Given the description of an element on the screen output the (x, y) to click on. 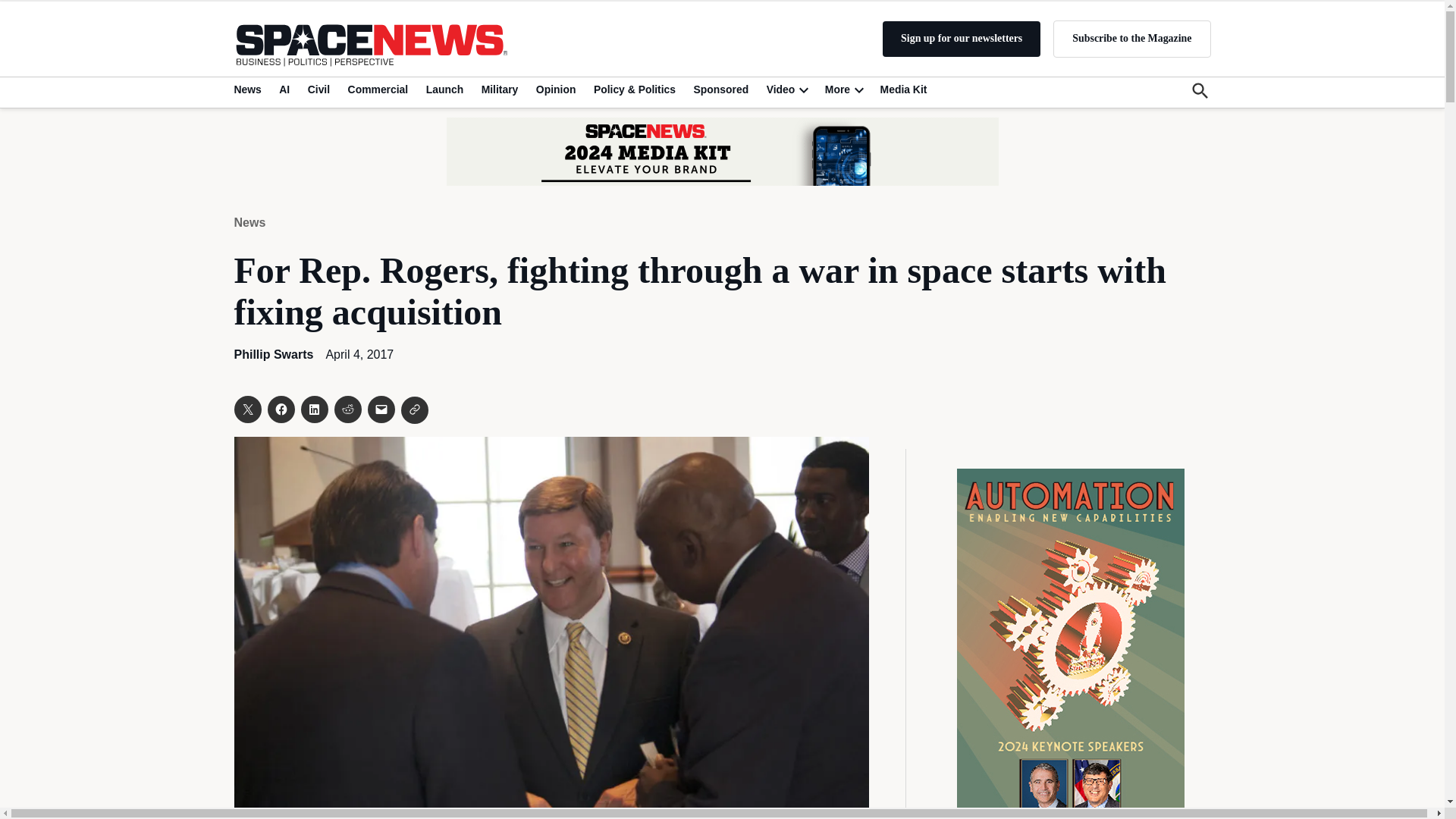
Click to share on Facebook (280, 409)
Click to share on Clipboard (414, 410)
Sign up for our newsletters (961, 38)
Click to share on Reddit (347, 409)
Subscribe to the Magazine (1130, 38)
AI (284, 89)
Click to email a link to a friend (380, 409)
Click to share on LinkedIn (313, 409)
Civil (318, 89)
Click to share on X (246, 409)
News (249, 89)
